Given the description of an element on the screen output the (x, y) to click on. 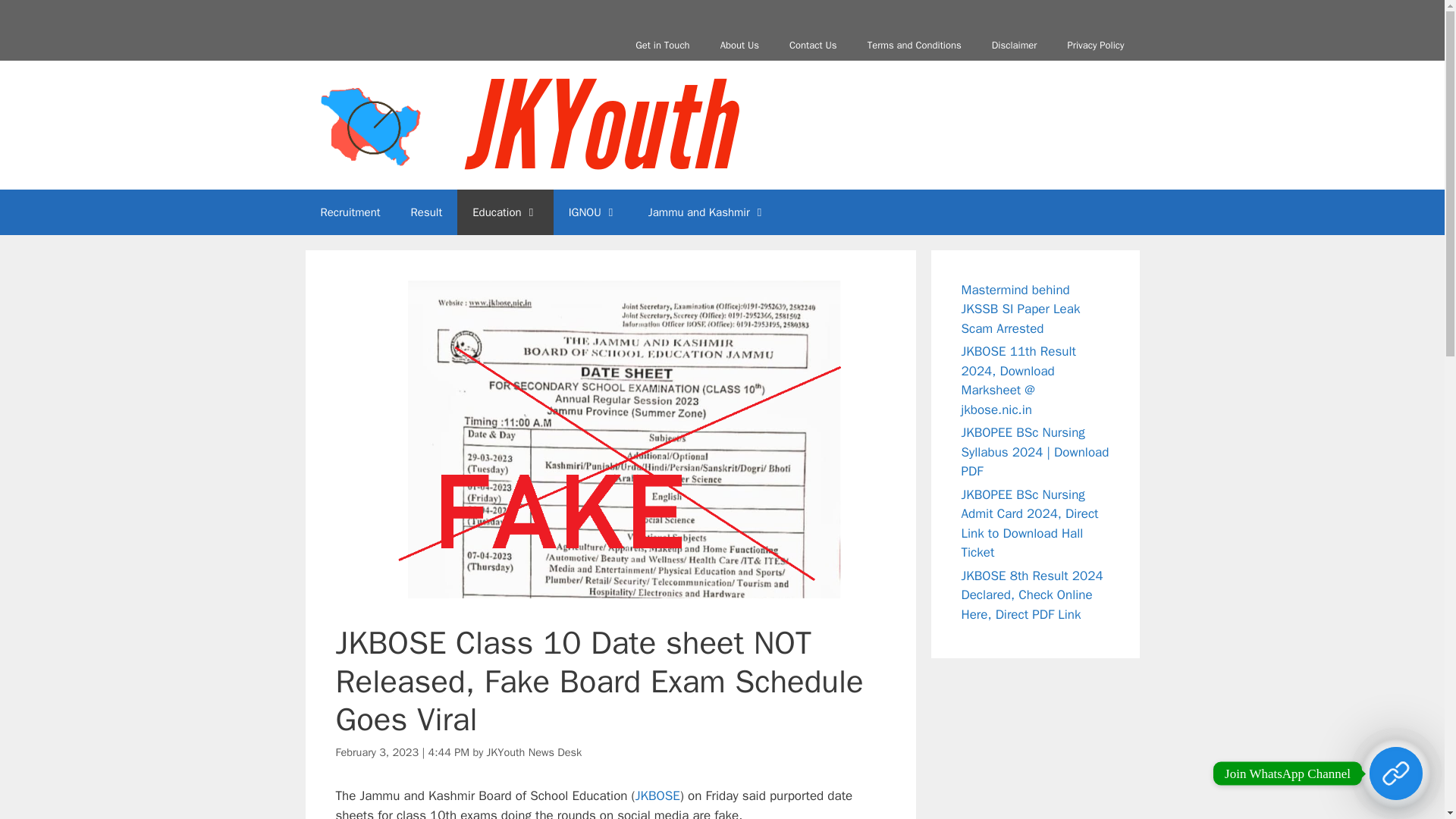
Privacy Policy (1094, 45)
Contact Us (812, 45)
Get in Touch (662, 45)
JKBOSE (656, 795)
Disclaimer (1014, 45)
Education (505, 212)
About Us (739, 45)
IGNOU (593, 212)
Result (427, 212)
Terms and Conditions (913, 45)
